Given the description of an element on the screen output the (x, y) to click on. 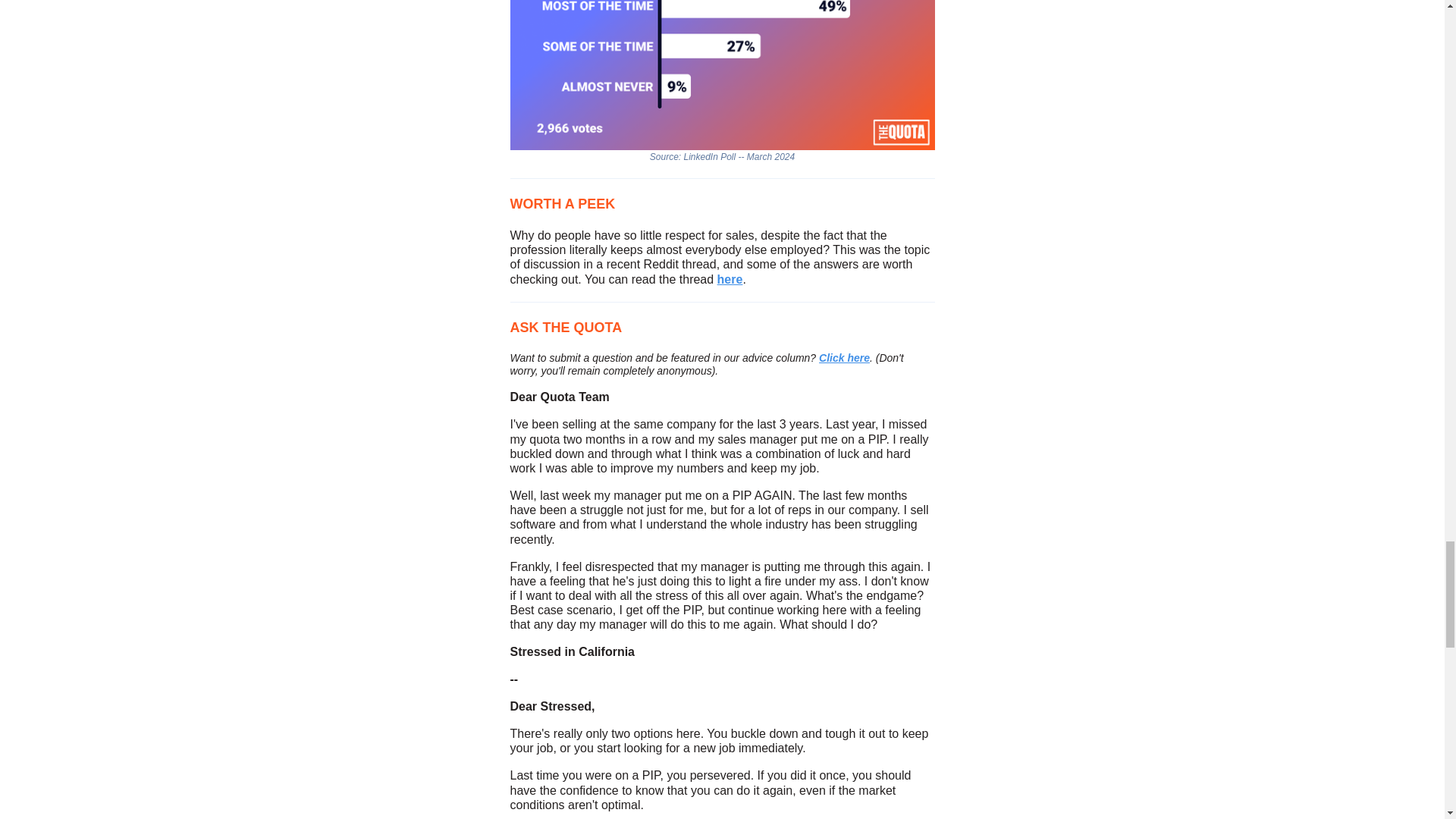
here (729, 279)
Click here (843, 357)
